Given the description of an element on the screen output the (x, y) to click on. 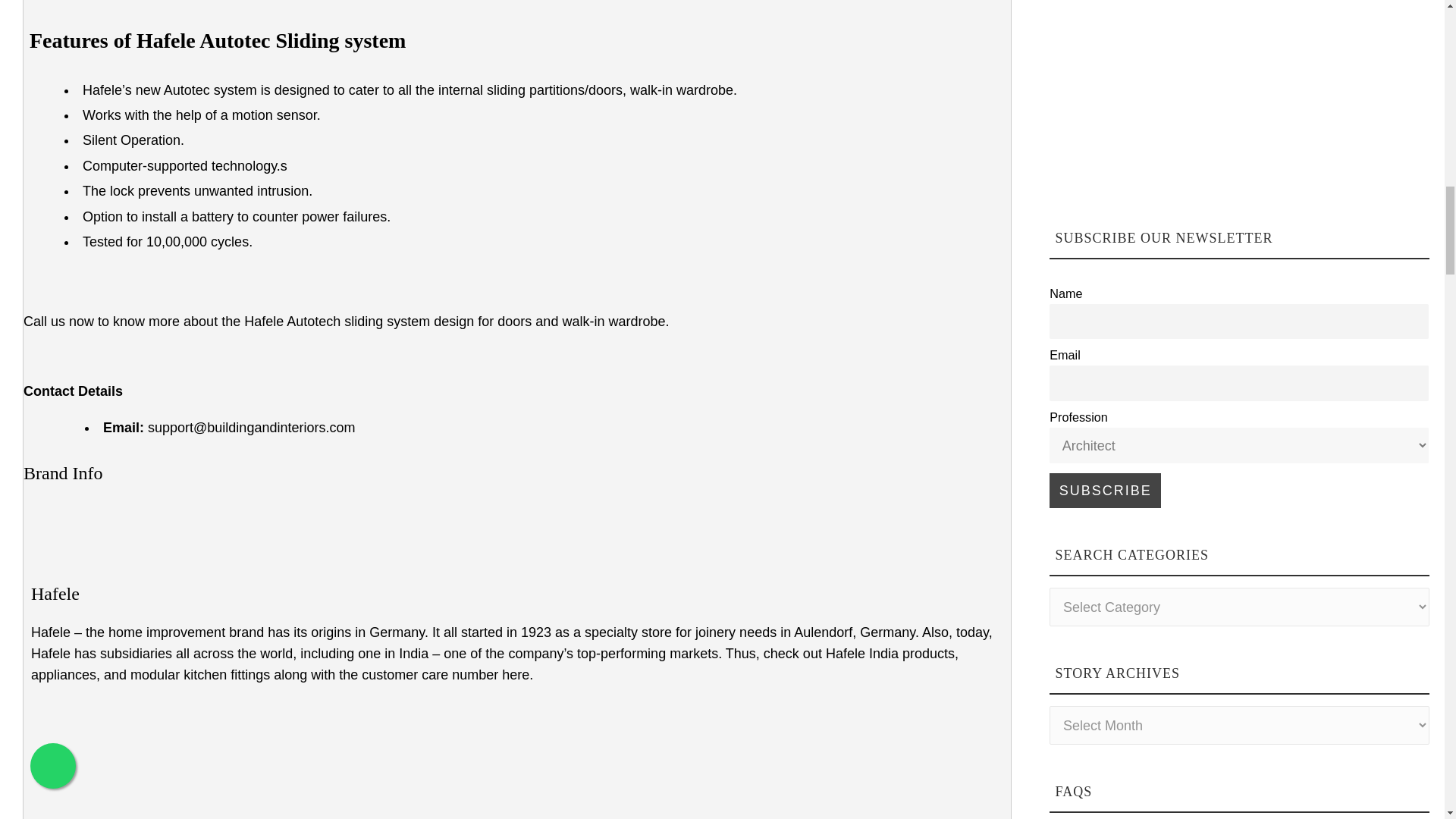
Upcoming Events (1181, 95)
Subscribe (1104, 490)
